Given the description of an element on the screen output the (x, y) to click on. 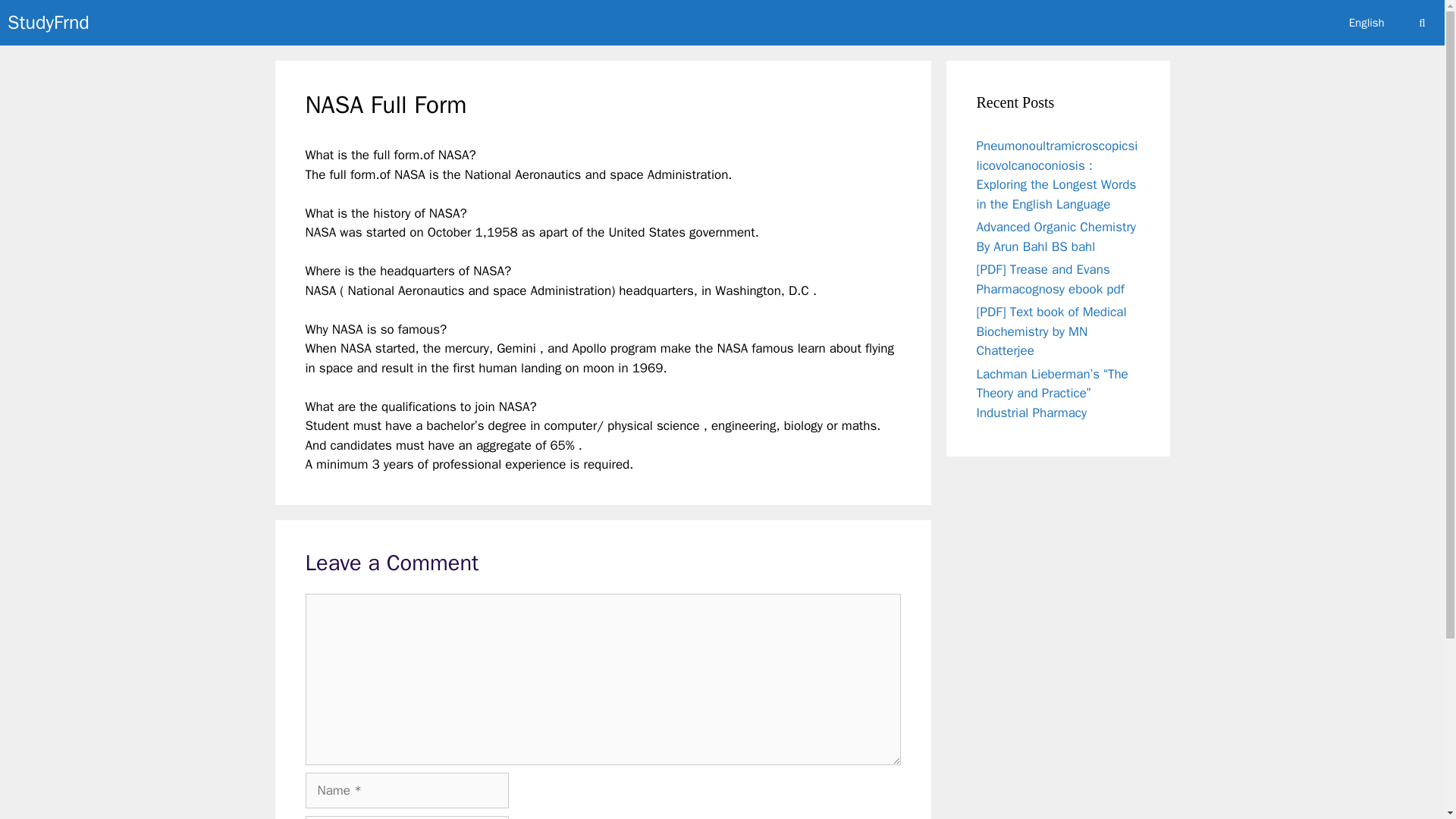
StudyFrnd (47, 22)
English (1366, 22)
Advanced Organic Chemistry By Arun Bahl BS bahl (1056, 236)
